Given the description of an element on the screen output the (x, y) to click on. 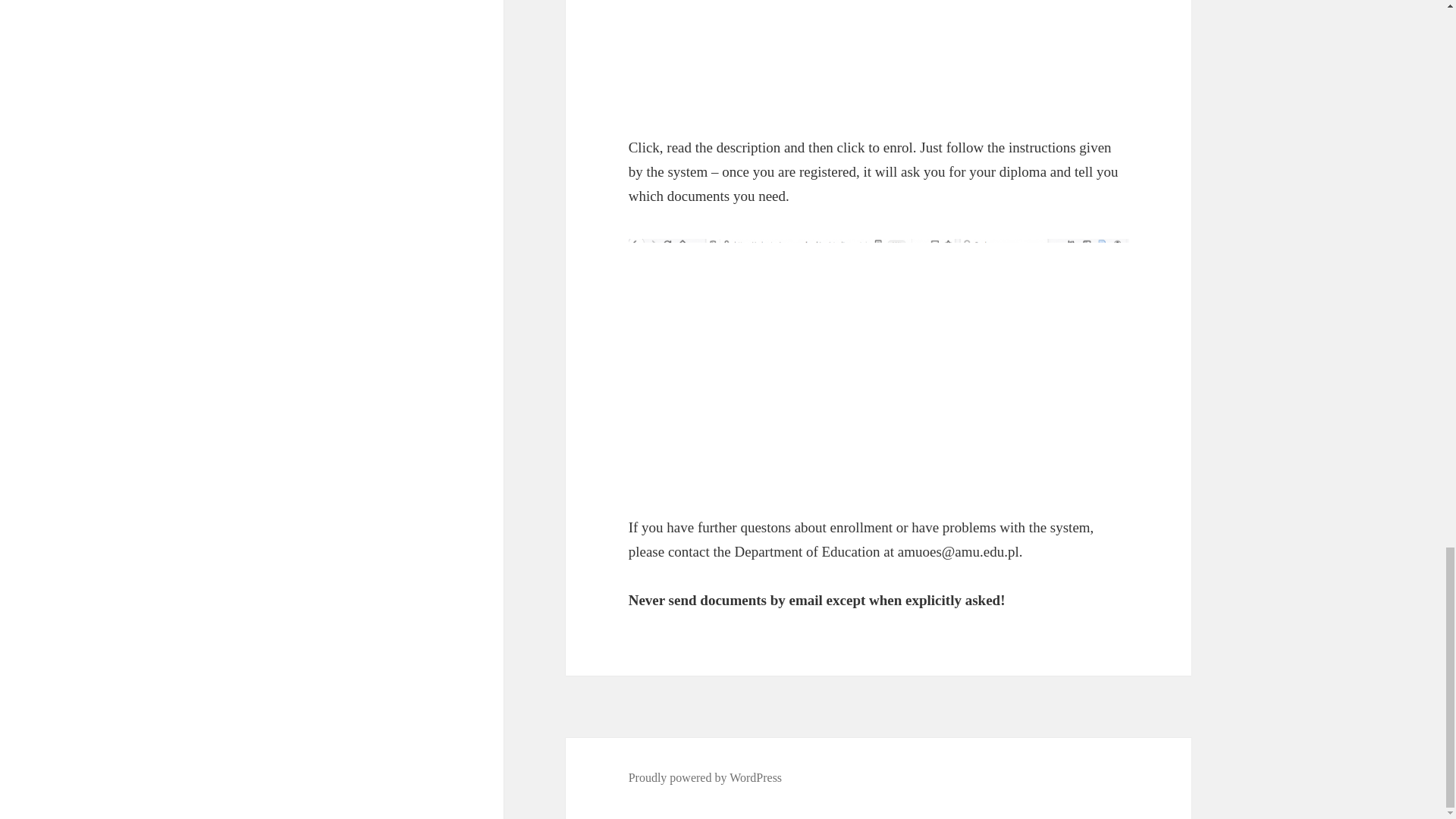
Proudly powered by WordPress (704, 777)
